Given the description of an element on the screen output the (x, y) to click on. 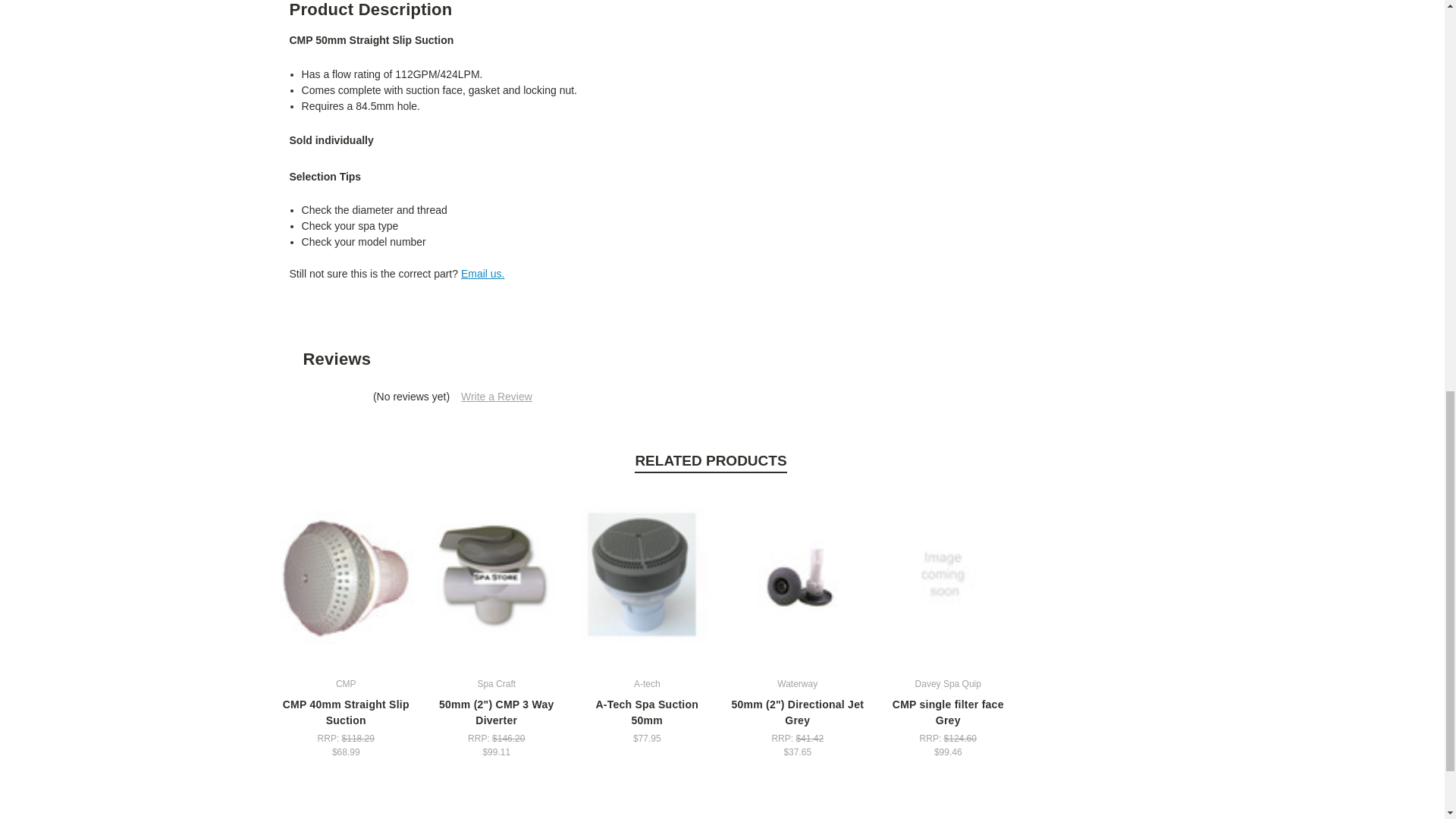
A-Tech Spa Suction 50mm (646, 577)
CMP 40mm Straight Slip Suction (346, 577)
CMP single filter face Grey (948, 577)
